Given the description of an element on the screen output the (x, y) to click on. 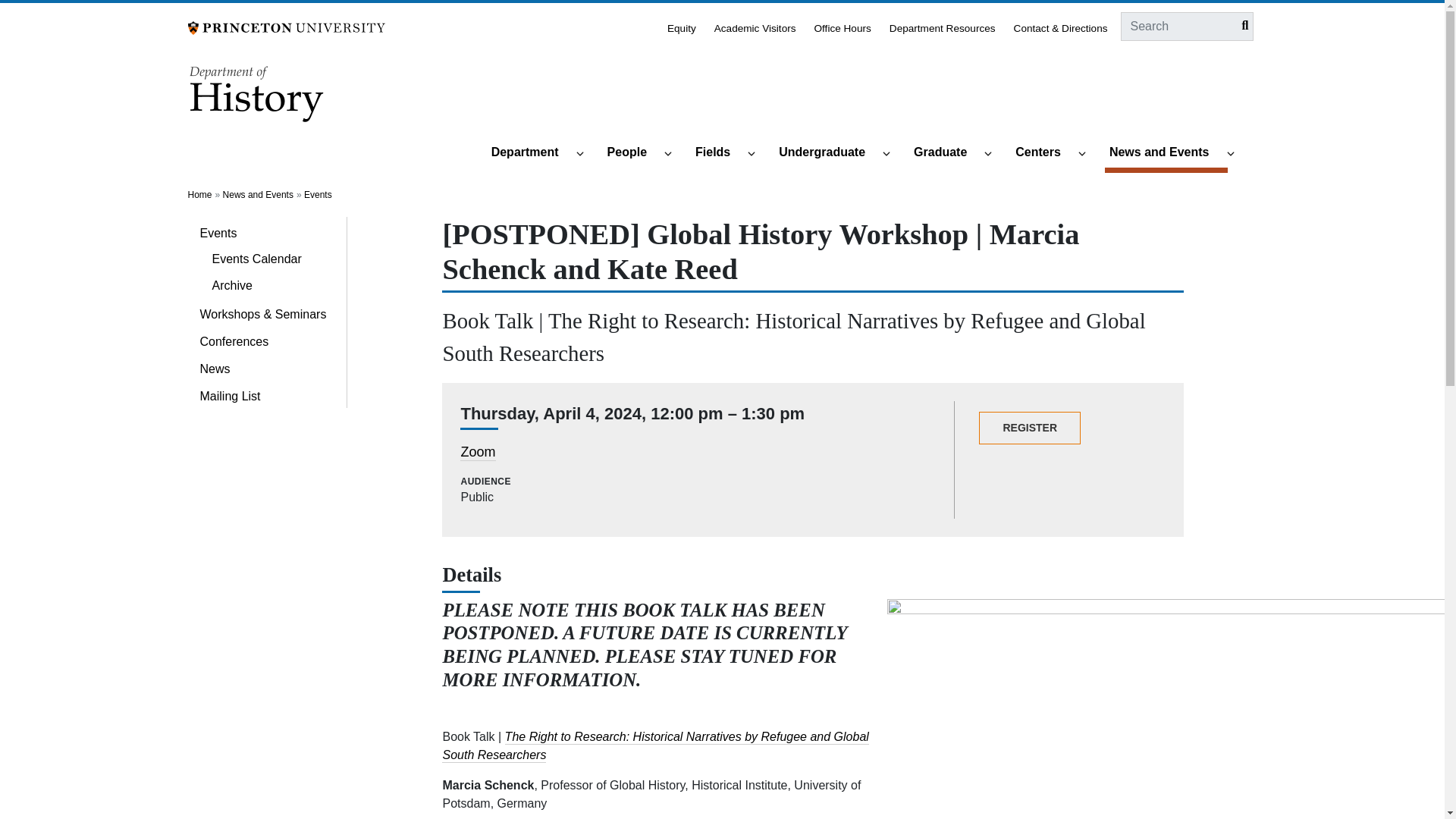
Department (531, 153)
Home (257, 98)
Submit (1240, 25)
People (633, 153)
Fields (719, 153)
Princeton University (286, 26)
